Given the description of an element on the screen output the (x, y) to click on. 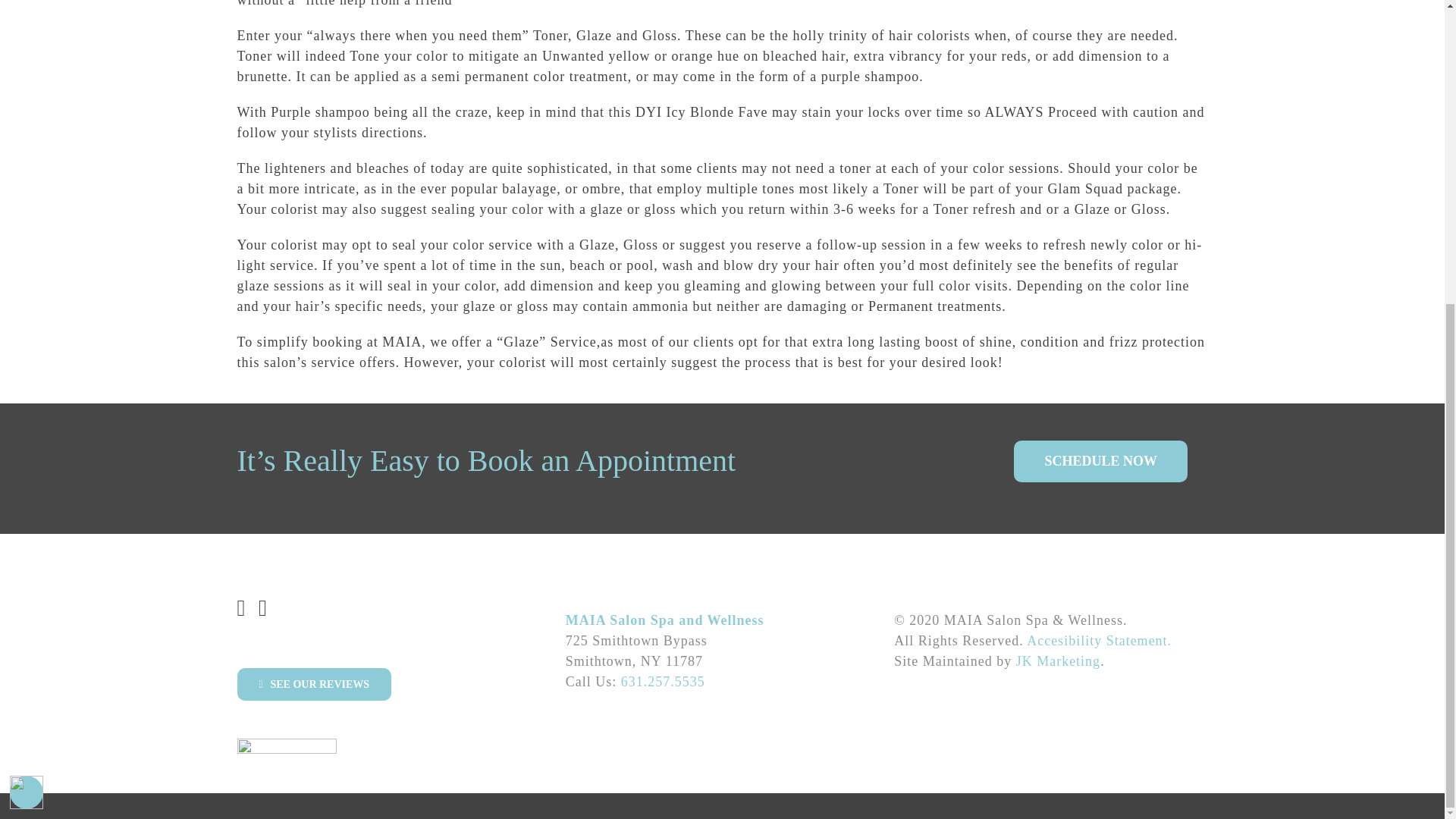
Accessibility Menu (26, 315)
